Given the description of an element on the screen output the (x, y) to click on. 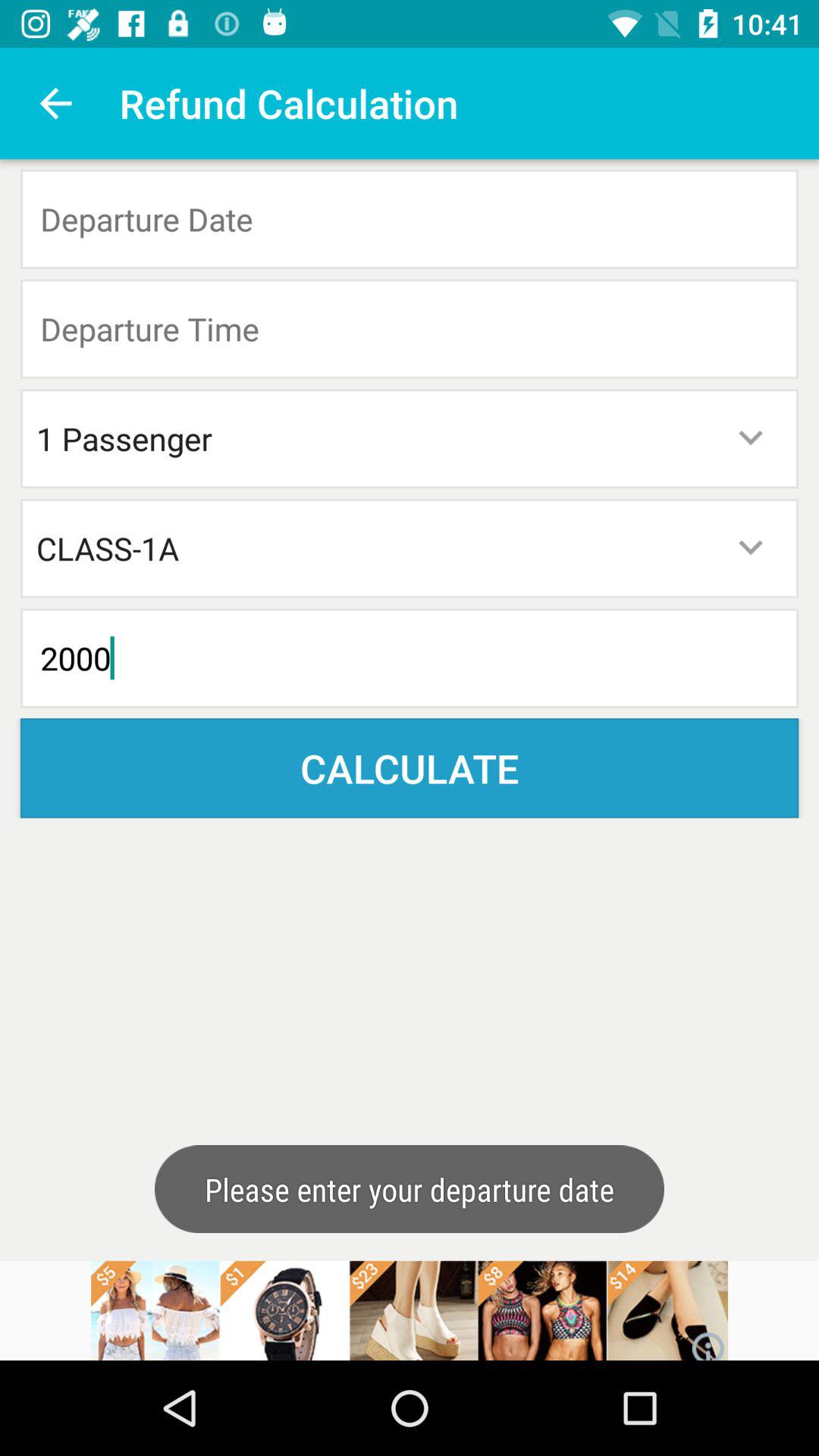
fashion page (409, 1310)
